Given the description of an element on the screen output the (x, y) to click on. 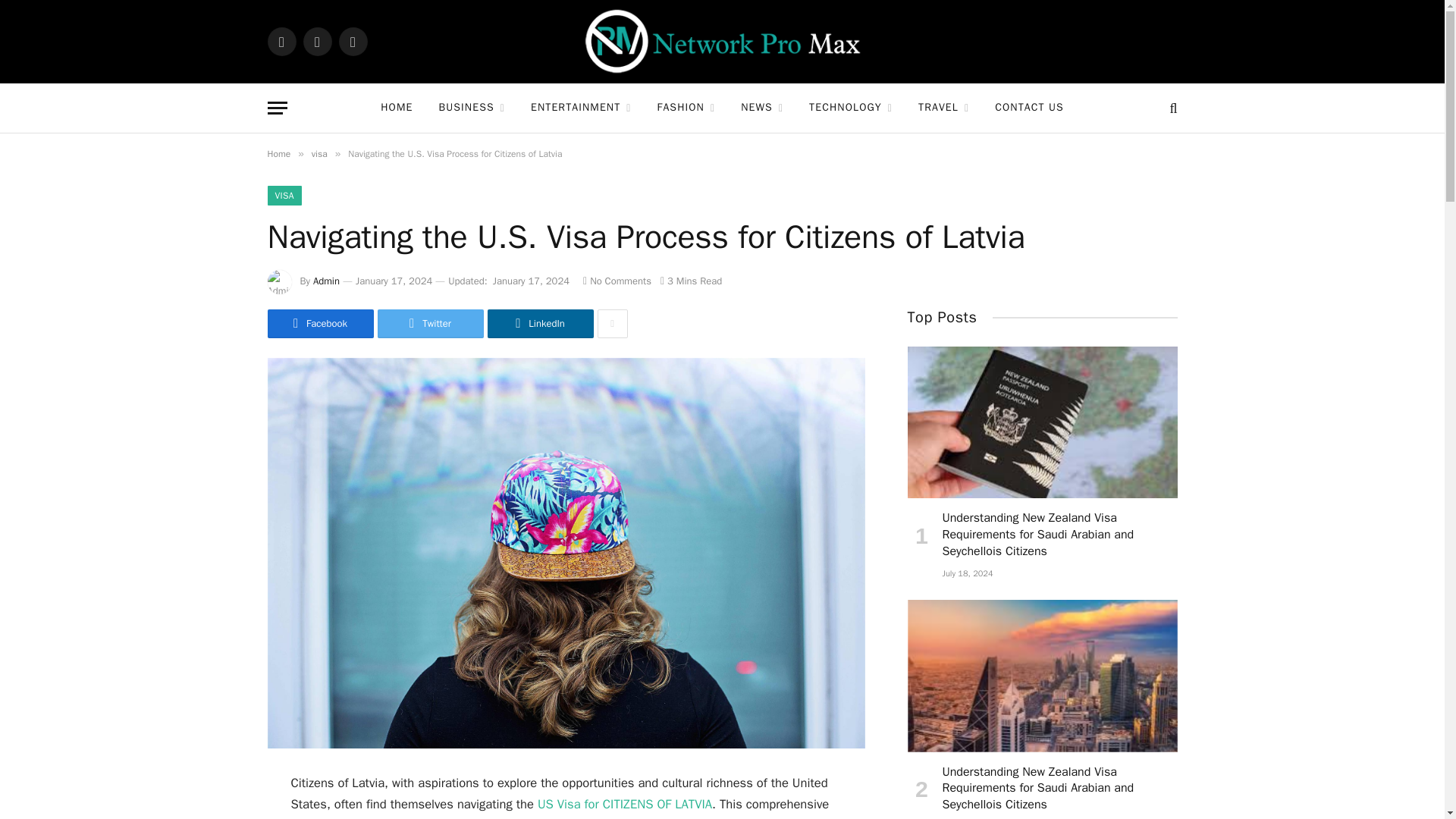
Network Pro Max (721, 41)
HOME (396, 107)
ENTERTAINMENT (581, 107)
Twitter (316, 41)
BUSINESS (471, 107)
Facebook (280, 41)
Instagram (351, 41)
